Given the description of an element on the screen output the (x, y) to click on. 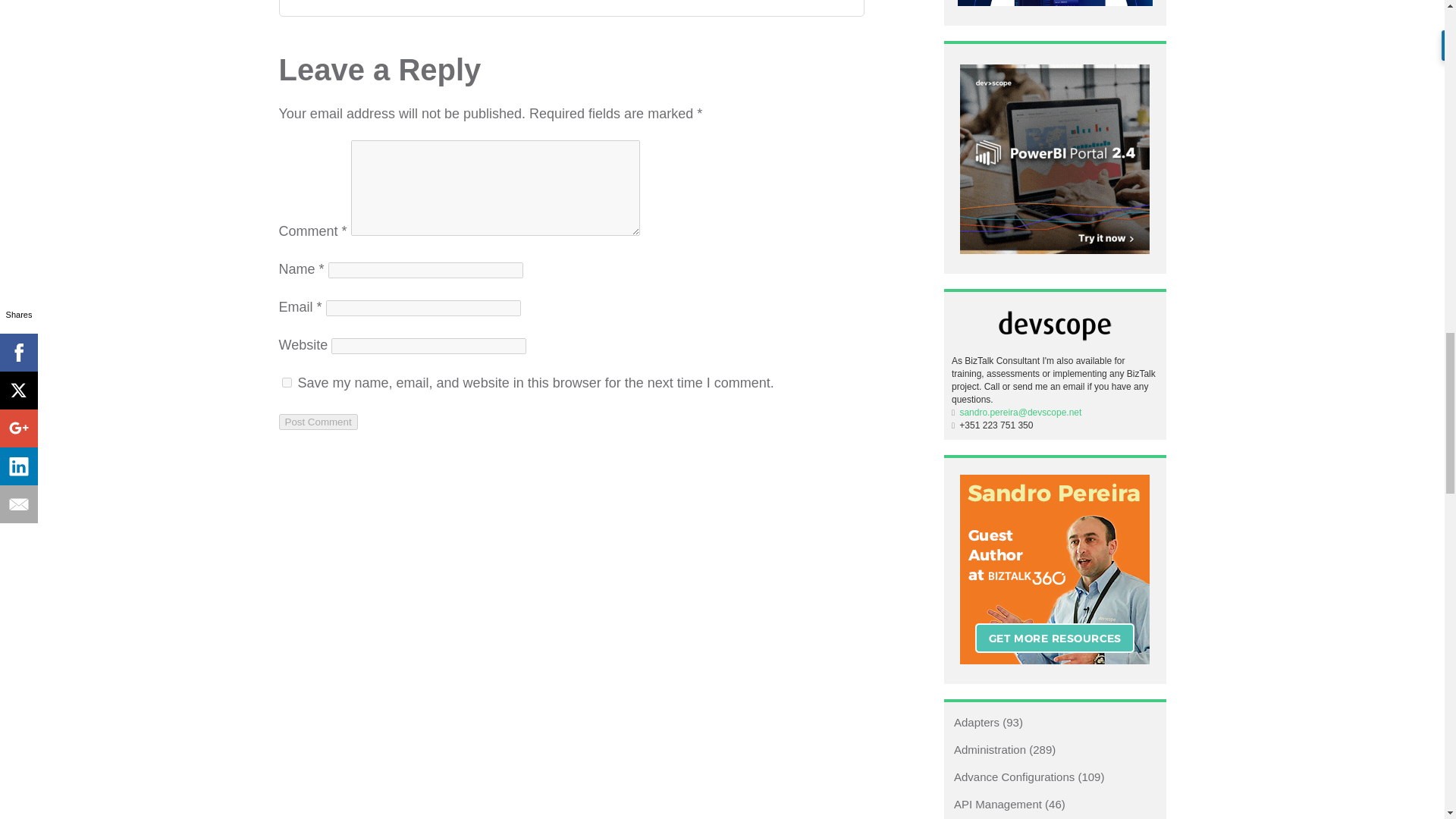
Post Comment (318, 421)
Post Comment (318, 421)
yes (287, 382)
